Given the description of an element on the screen output the (x, y) to click on. 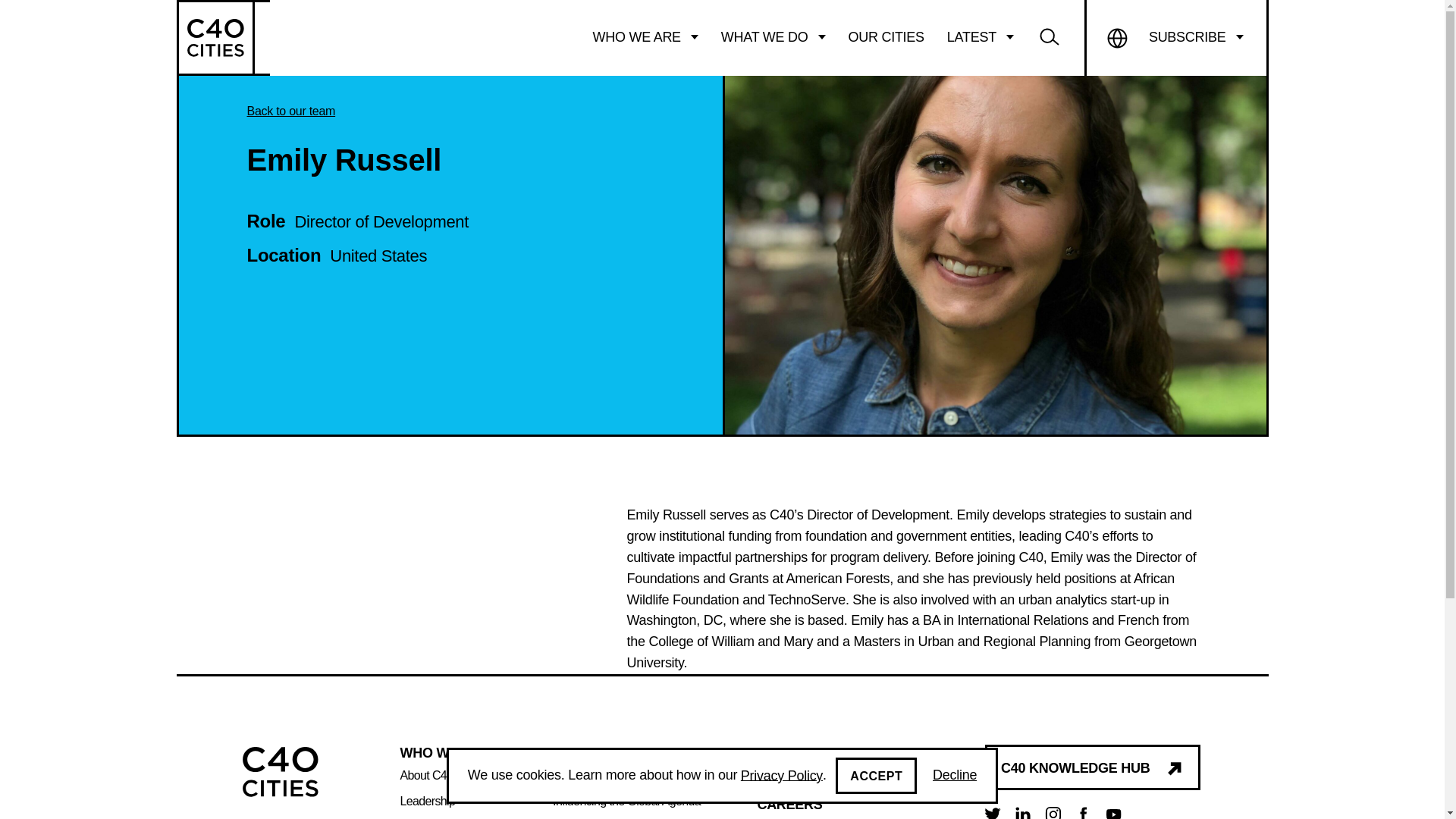
WHAT WE DO (773, 37)
WHO WE ARE (645, 37)
LATEST (980, 37)
OUR CITIES (886, 37)
